Given the description of an element on the screen output the (x, y) to click on. 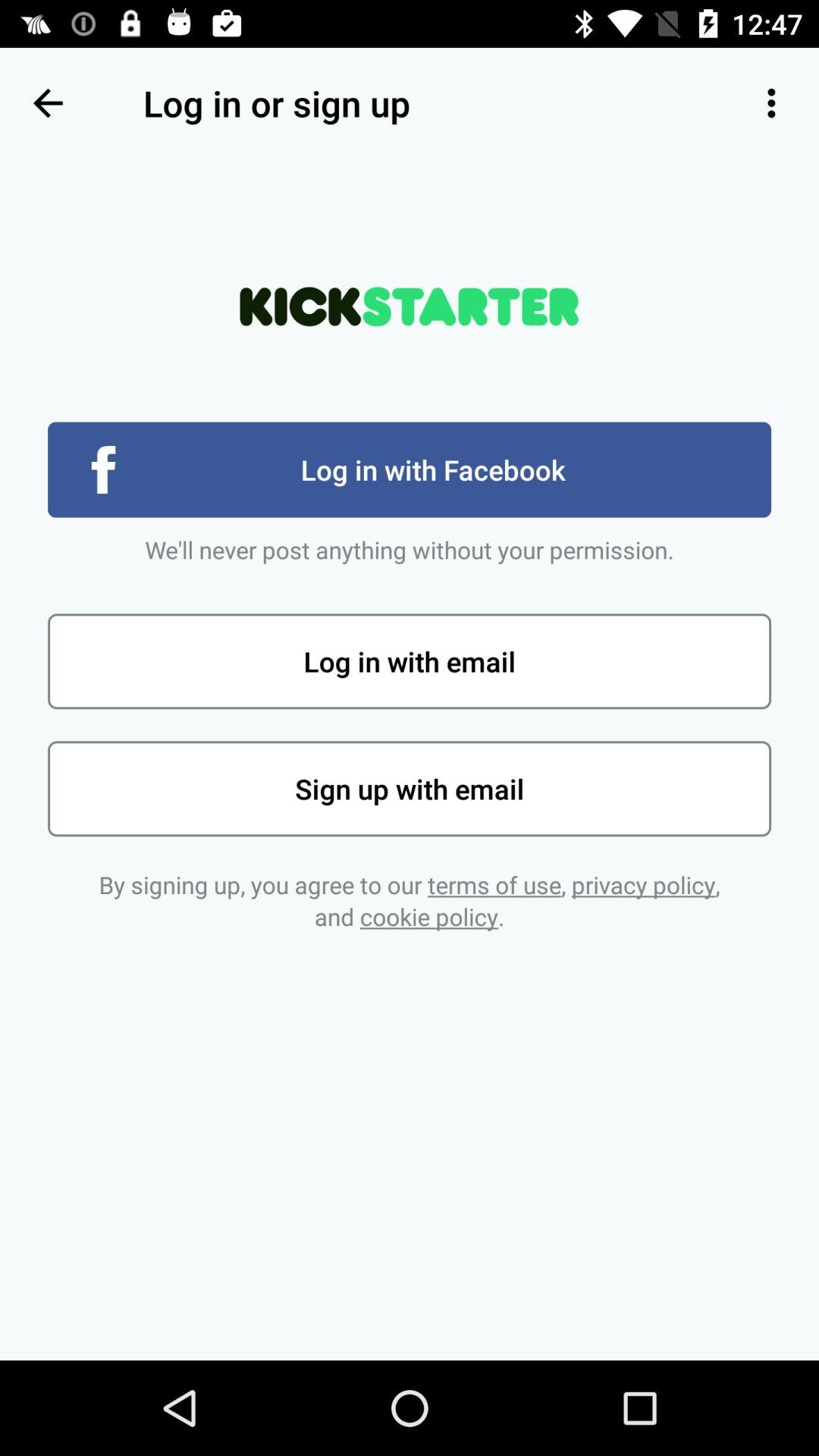
scroll to by signing up (409, 900)
